Given the description of an element on the screen output the (x, y) to click on. 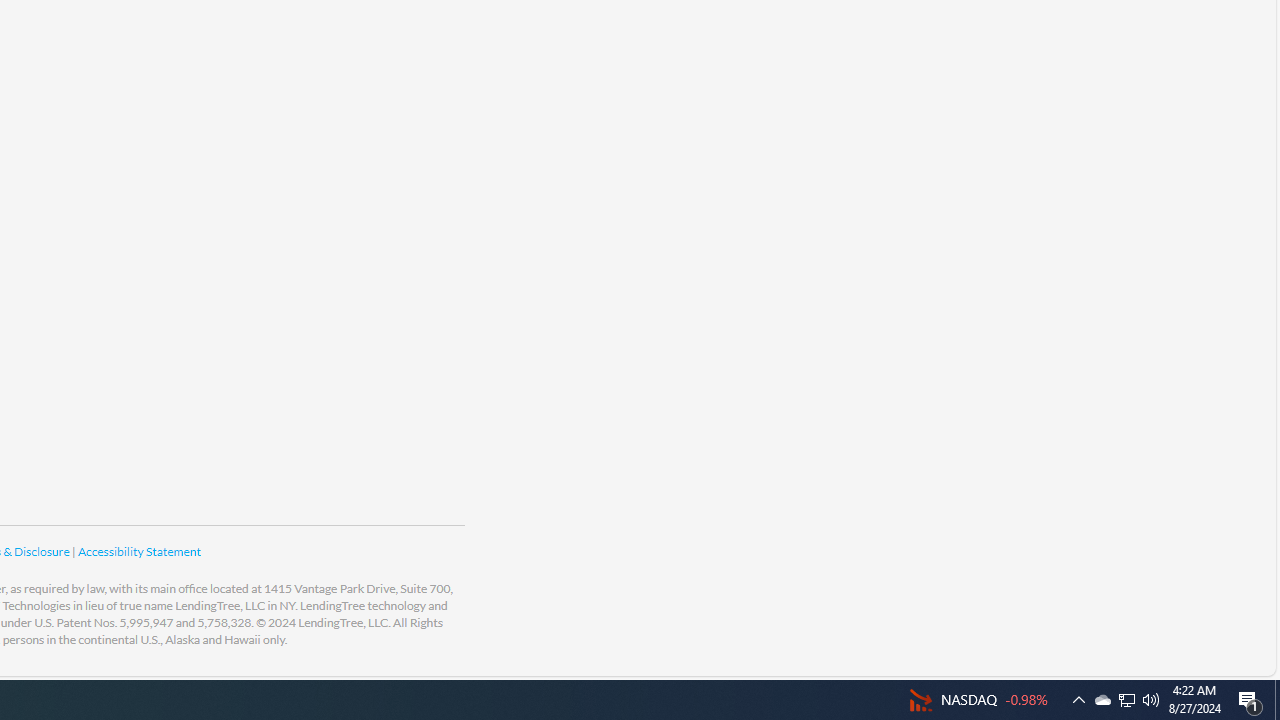
Accessibility Statement (138, 551)
